Given the description of an element on the screen output the (x, y) to click on. 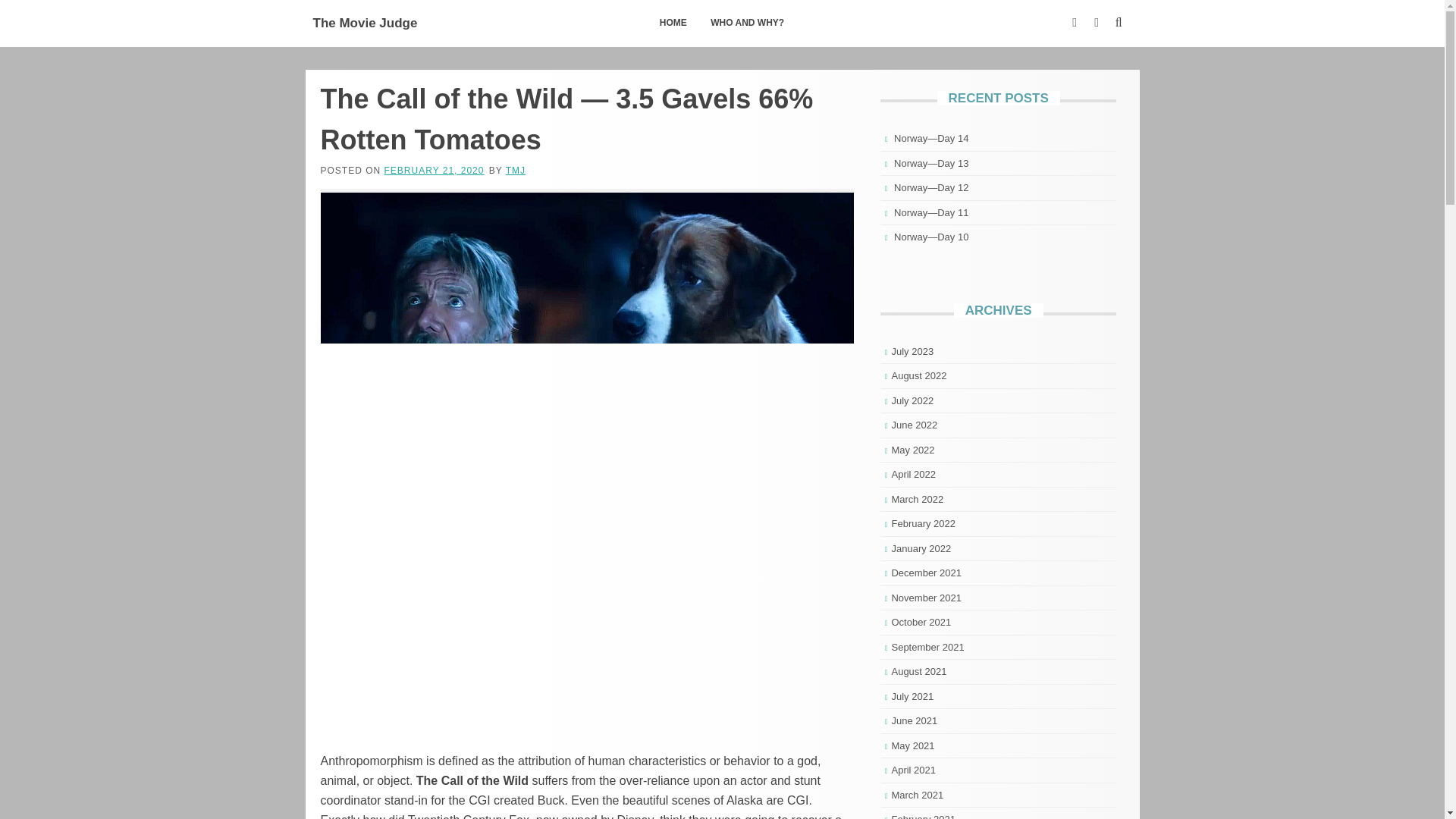
May 2022 (912, 449)
The Movie Judge (364, 22)
July 2023 (912, 351)
October 2021 (920, 622)
WHO AND WHY? (746, 22)
April 2022 (913, 473)
TMJ (515, 170)
August 2021 (918, 671)
June 2022 (914, 424)
November 2021 (925, 596)
March 2022 (917, 498)
HOME (673, 22)
January 2022 (920, 548)
December 2021 (925, 572)
February 2022 (923, 523)
